Given the description of an element on the screen output the (x, y) to click on. 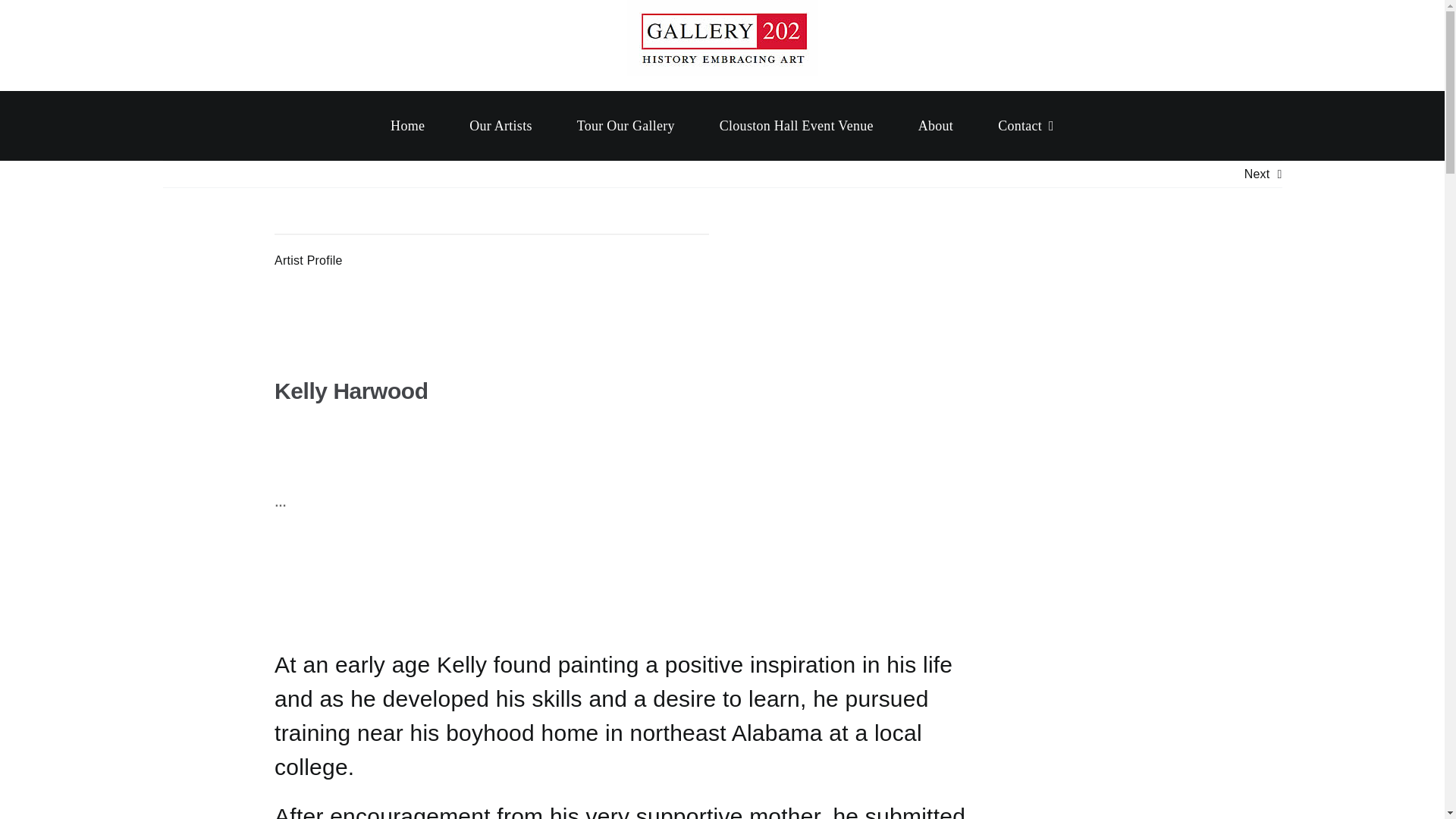
Contact (1025, 125)
Clouston Hall Event Venue (796, 125)
About (935, 125)
Next (1256, 174)
Home (407, 125)
Our Artists (499, 125)
Tour Our Gallery (625, 125)
